Given the description of an element on the screen output the (x, y) to click on. 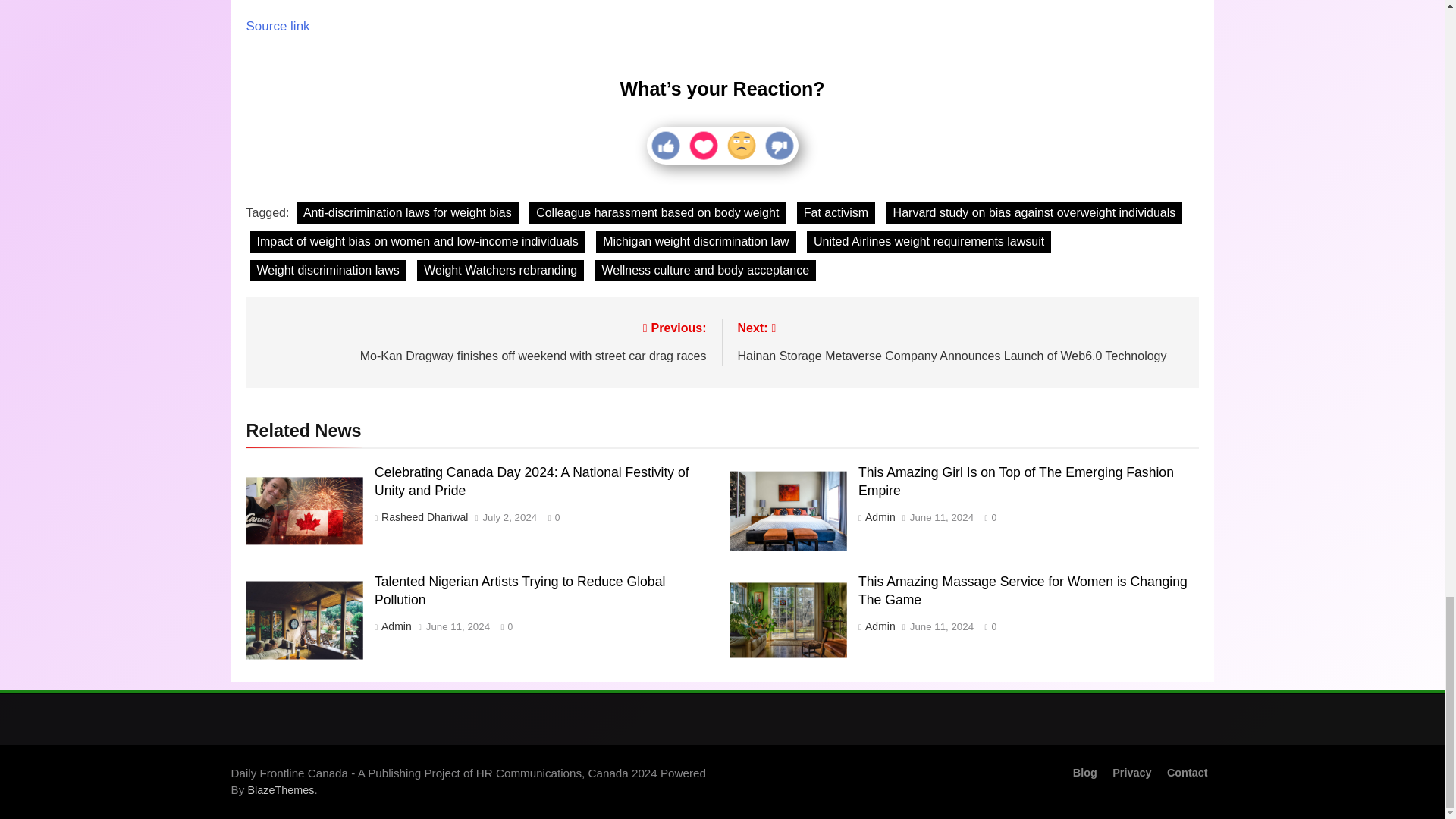
This Amazing Girl Is on Top of The Emerging Fashion Empire (788, 511)
Talented Nigerian Artists Trying to Reduce Global Pollution (304, 619)
